Given the description of an element on the screen output the (x, y) to click on. 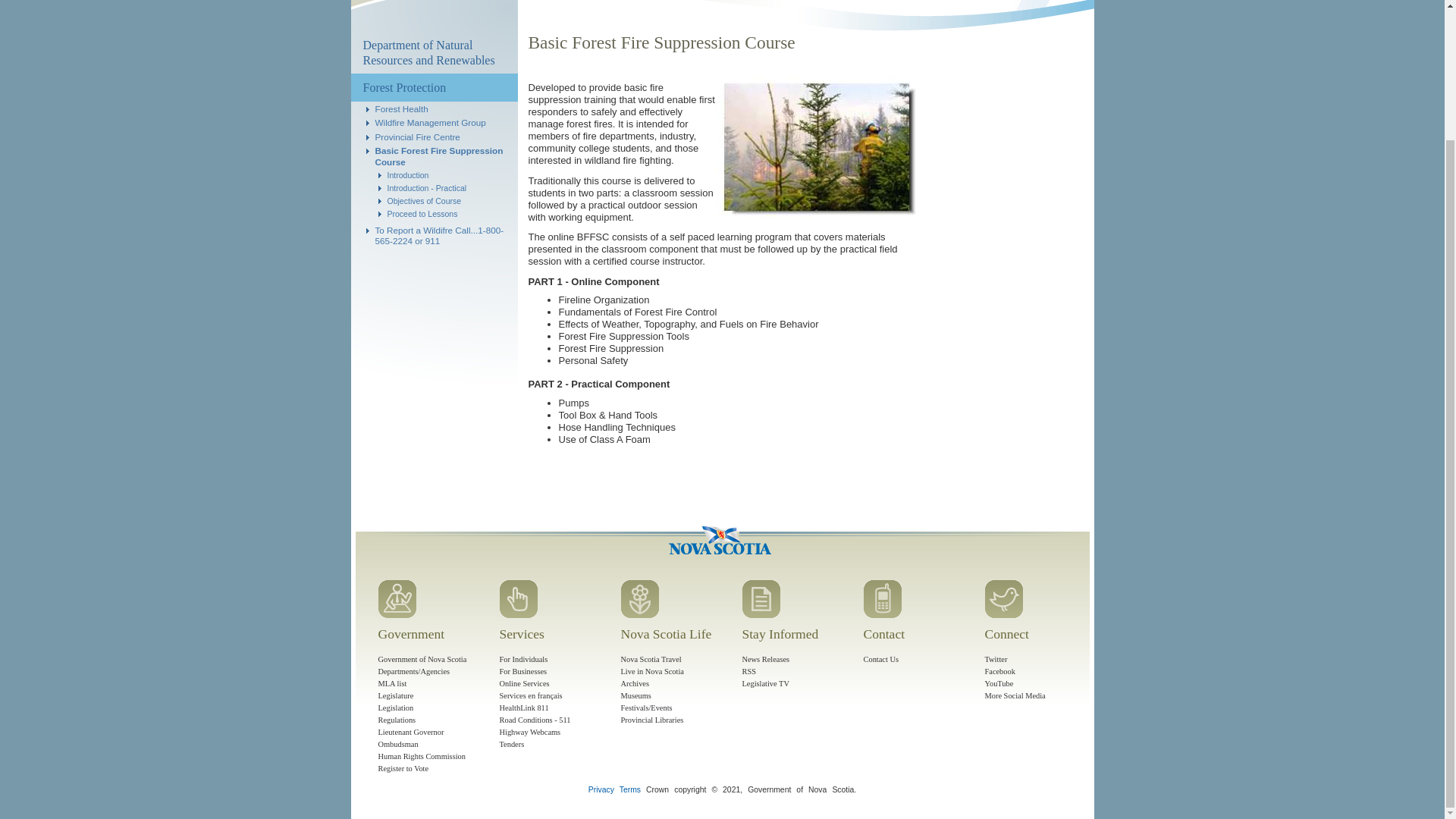
Provincial Fire Centre (417, 136)
Forest Health (401, 108)
Wildfire Management Group (429, 122)
Department of Natural Resources and Renewables (433, 52)
Forest Protection (433, 87)
